Given the description of an element on the screen output the (x, y) to click on. 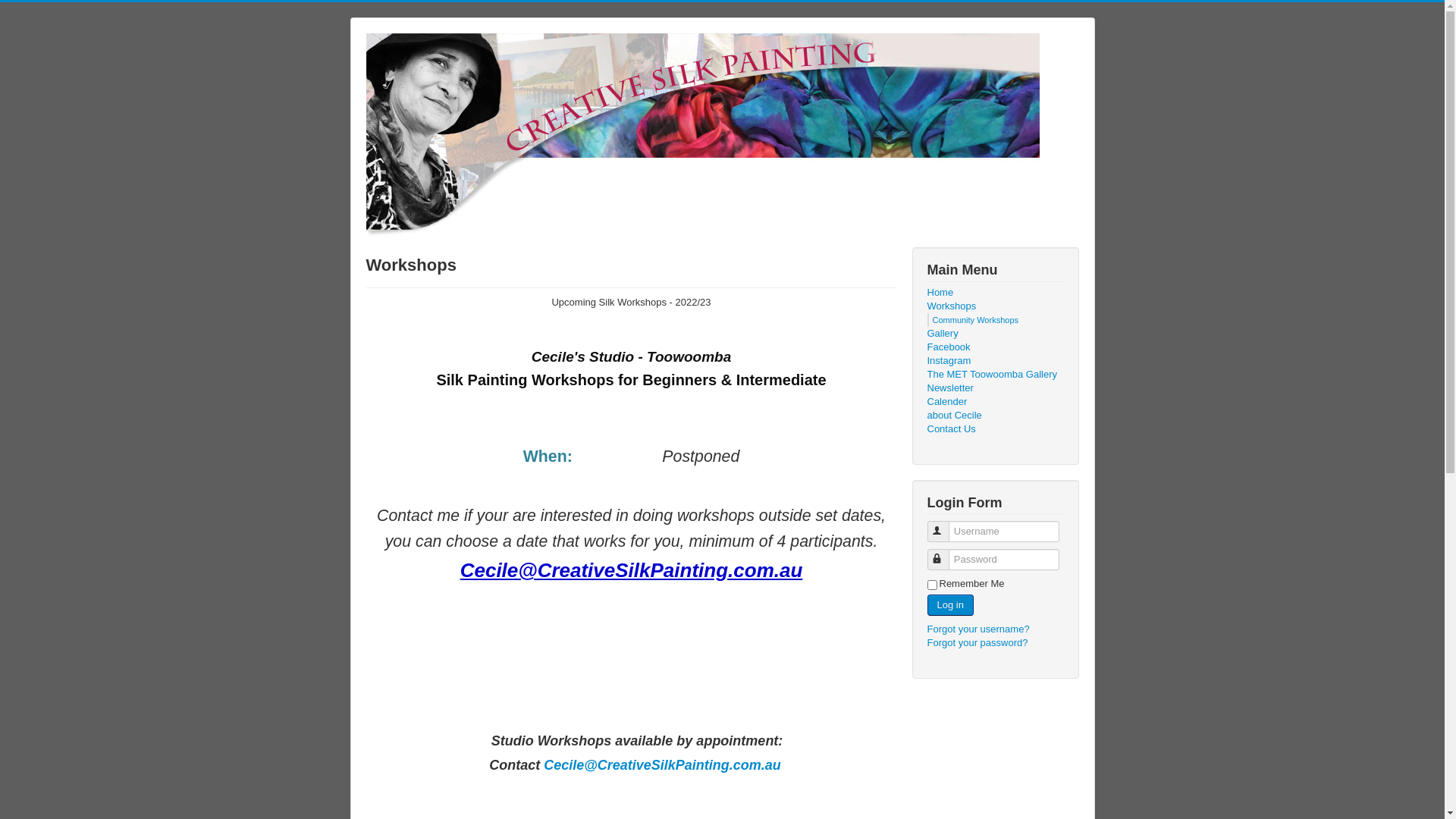
Forgot your username? Element type: text (977, 628)
Forgot your password? Element type: text (976, 642)
about Cecile Element type: text (994, 415)
Gallery Element type: text (994, 333)
Facebook Element type: text (994, 347)
The MET Toowoomba Gallery Element type: text (994, 374)
Instagram Element type: text (994, 360)
Log in Element type: text (949, 604)
Newsletter Element type: text (994, 388)
Cecile@CreativeSilkPainting.com.au Element type: text (631, 569)
Home Element type: text (994, 292)
Contact Us Element type: text (994, 429)
Cecile@CreativeSilkPainting.com.au Element type: text (662, 764)
Workshops Element type: text (994, 306)
Calender Element type: text (994, 401)
Community Workshops Element type: text (975, 319)
